Given the description of an element on the screen output the (x, y) to click on. 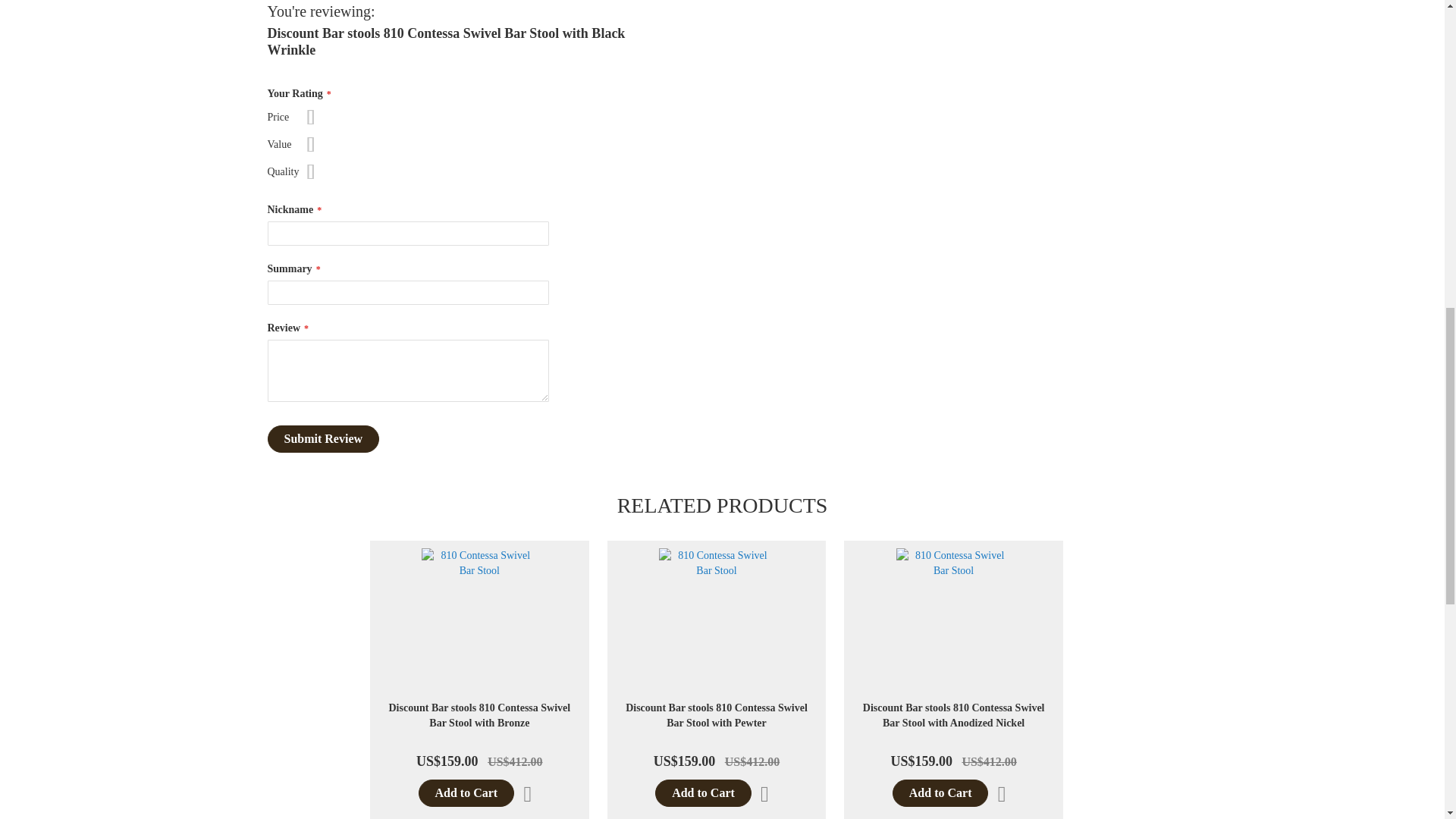
Scratch and dent Bar Stools (443, 54)
